Given the description of an element on the screen output the (x, y) to click on. 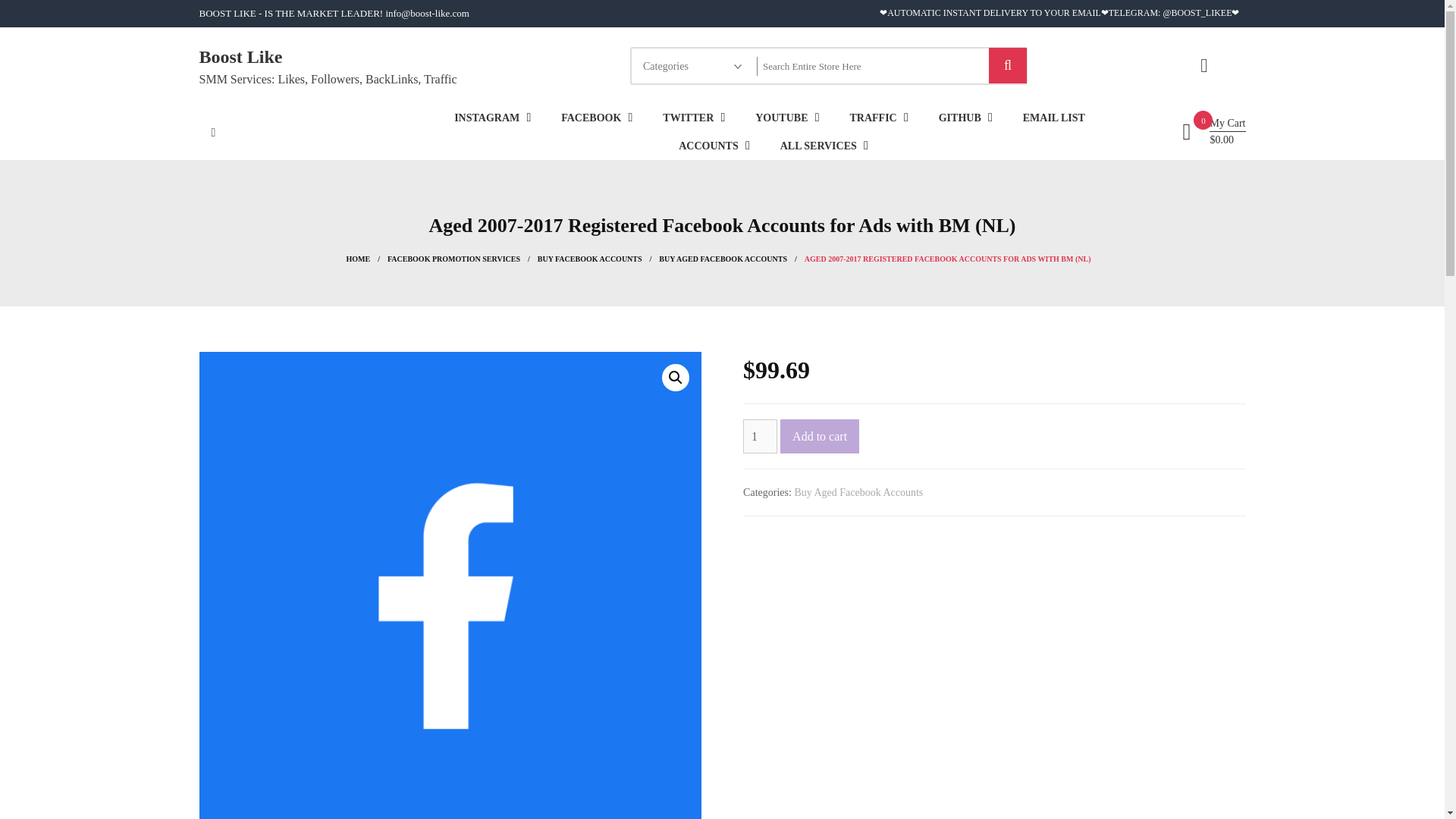
1 (759, 436)
